Given the description of an element on the screen output the (x, y) to click on. 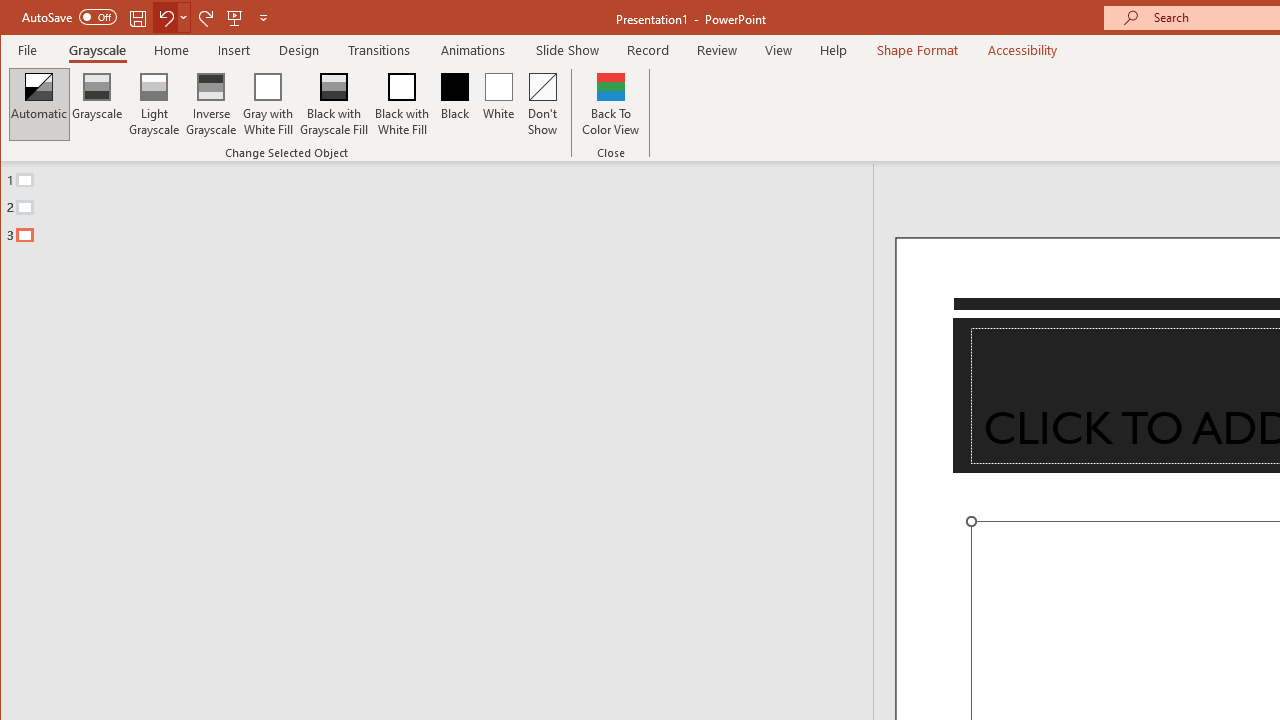
Black with White Fill (402, 104)
Light Grayscale (153, 104)
Gray with White Fill (267, 104)
White (498, 104)
